Given the description of an element on the screen output the (x, y) to click on. 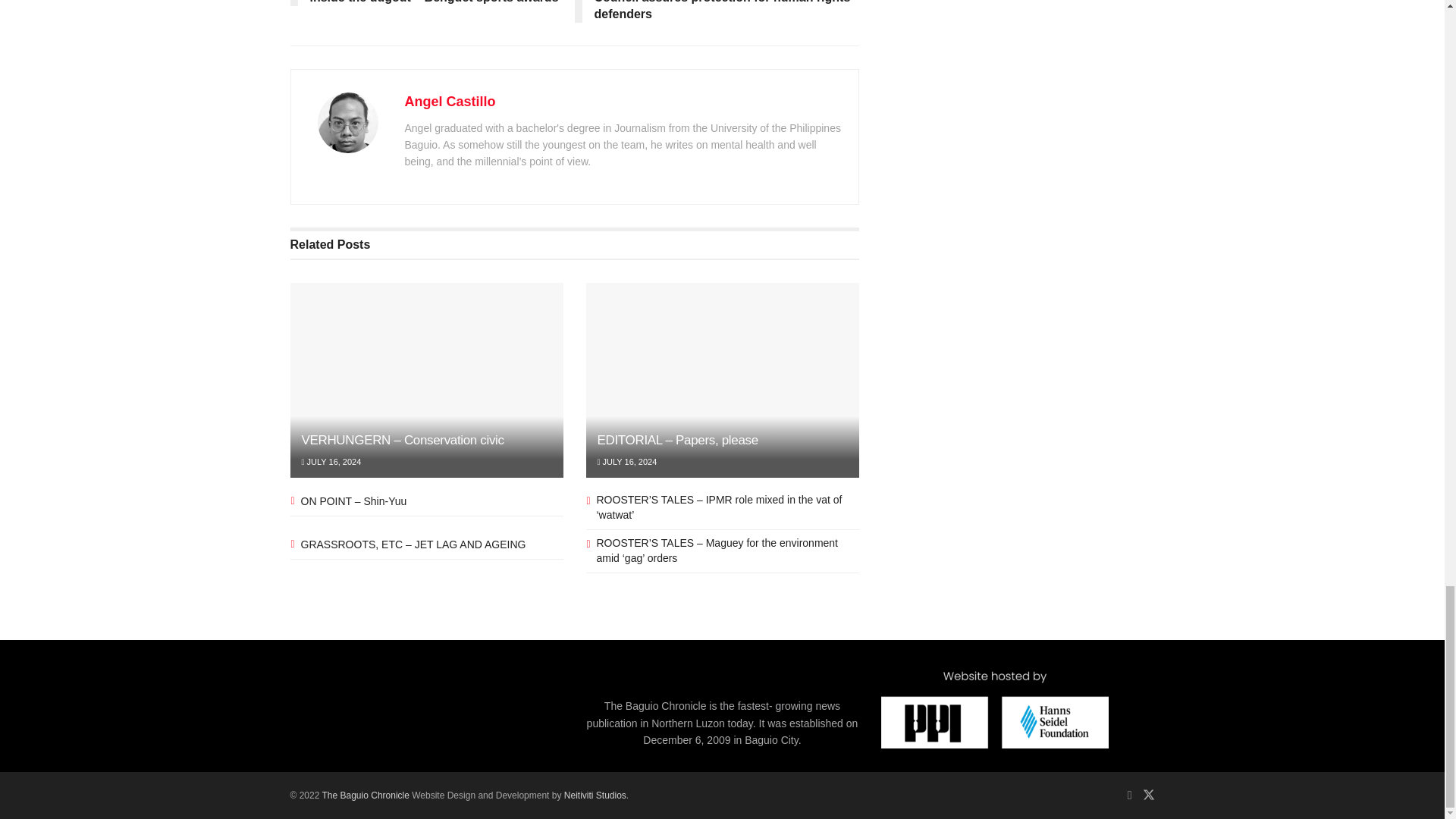
Website design by (366, 795)
PPI-and-HSF-Logos (994, 709)
Neitiviti Studios (595, 795)
